Given the description of an element on the screen output the (x, y) to click on. 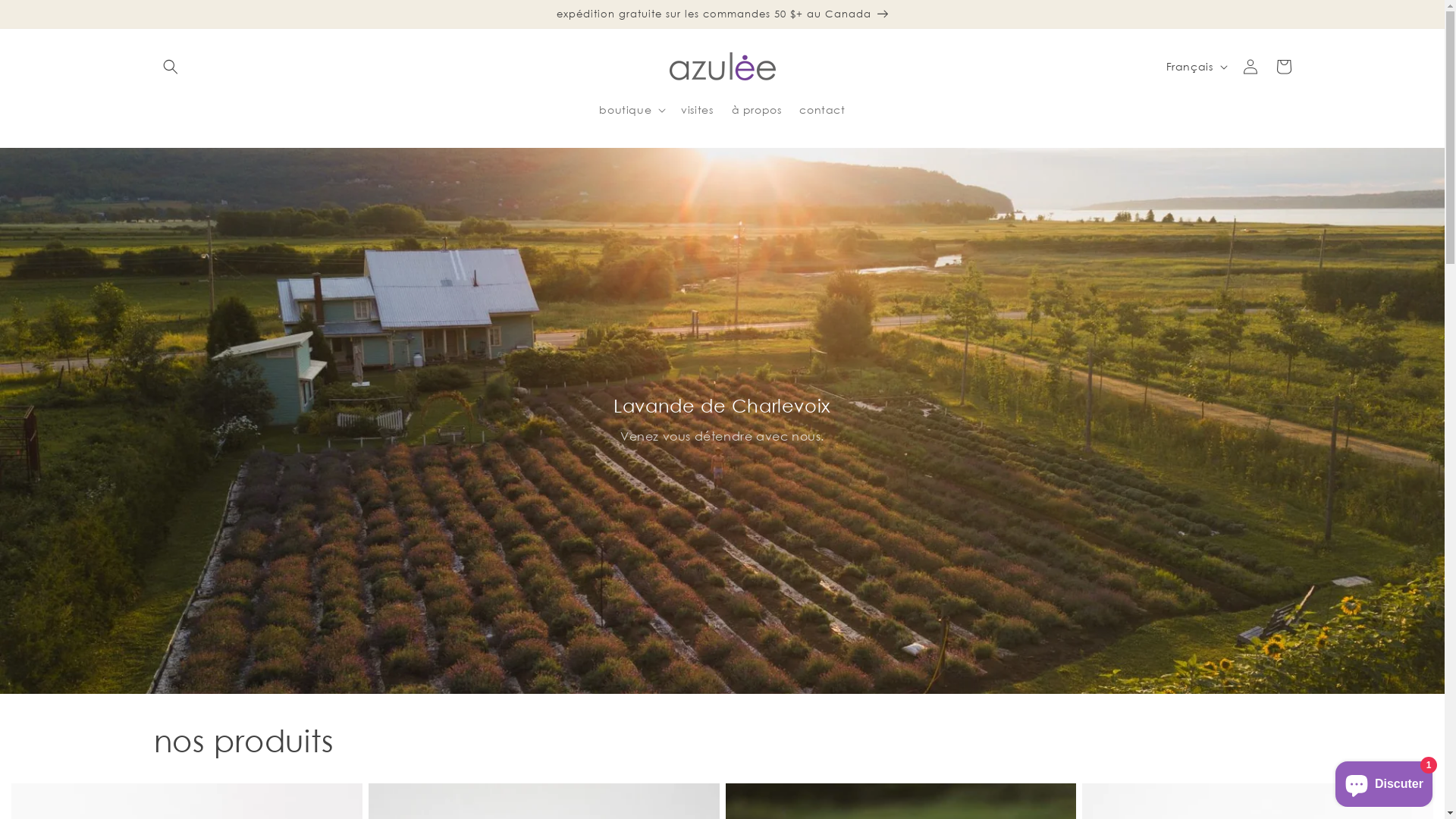
Connexion Element type: text (1249, 66)
contact Element type: text (821, 109)
Panier Element type: text (1282, 66)
visites Element type: text (696, 109)
Chat de la boutique en ligne Shopify Element type: hover (1383, 780)
